Given the description of an element on the screen output the (x, y) to click on. 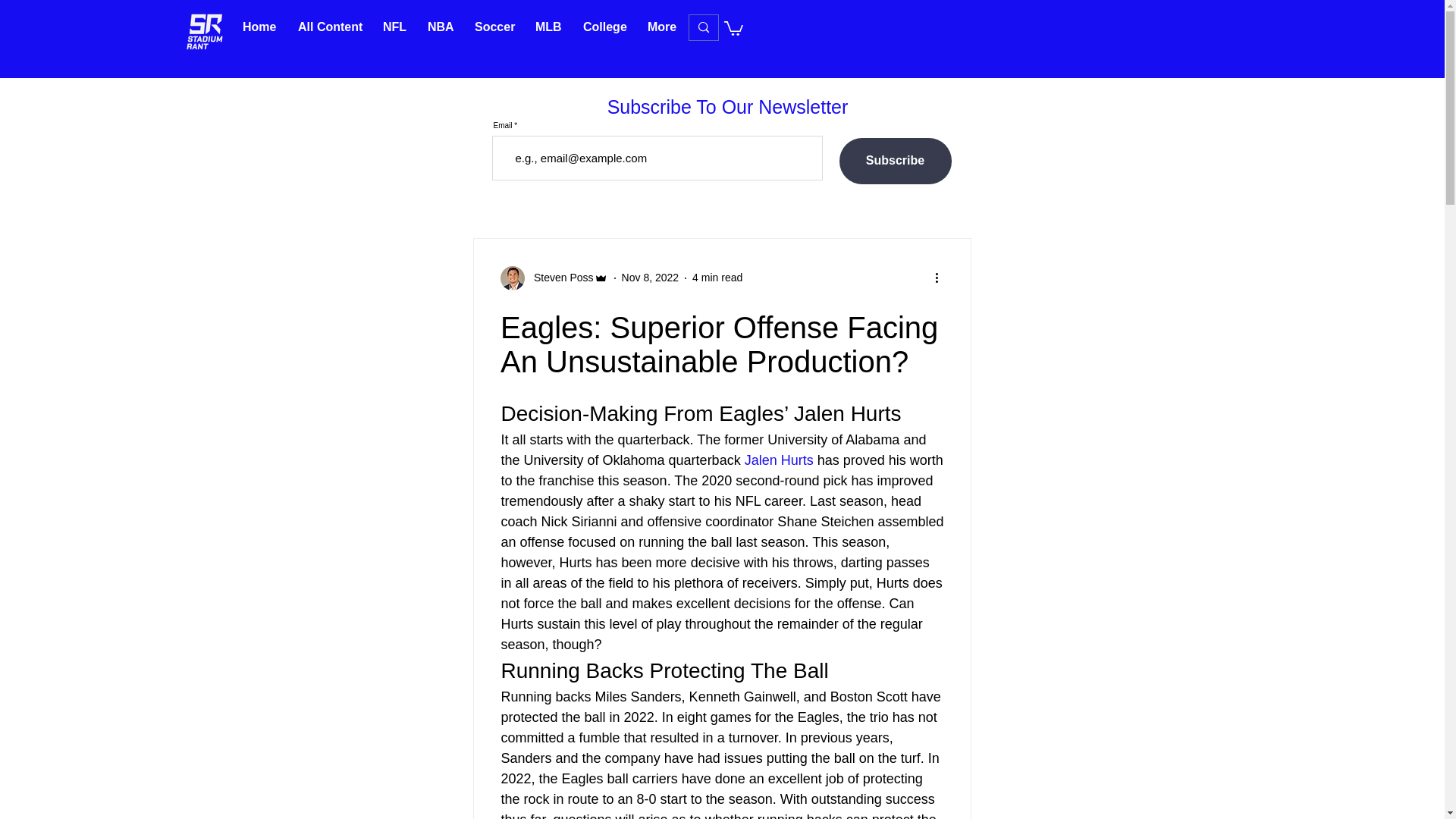
Steven Poss (554, 278)
College (604, 26)
Jalen Hurts (778, 459)
MLB (548, 26)
Nov 8, 2022 (650, 277)
Home (258, 26)
NBA (439, 26)
NFL (393, 26)
Subscribe (894, 161)
All Content (328, 26)
